Given the description of an element on the screen output the (x, y) to click on. 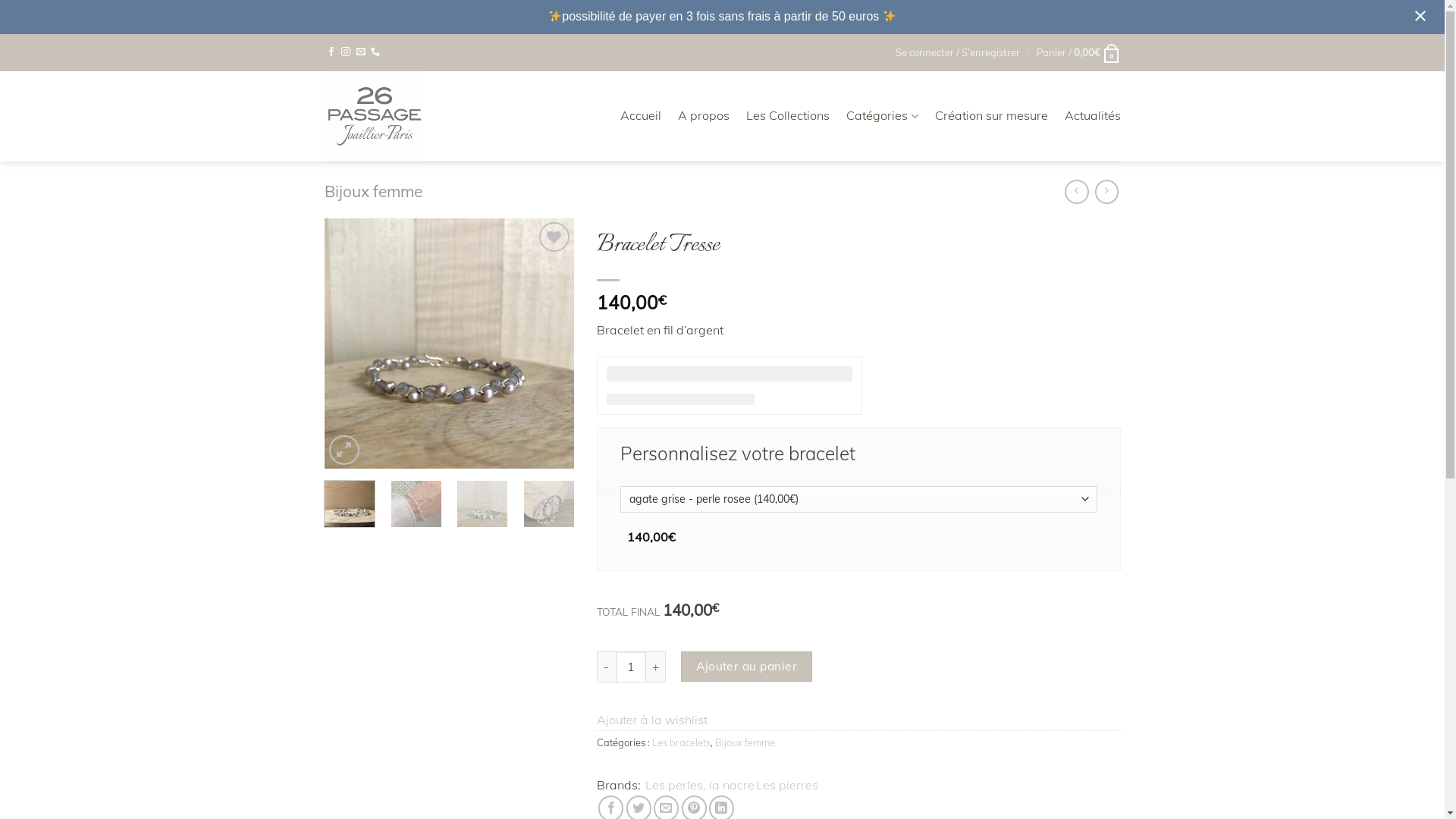
A propos Element type: text (703, 115)
Les perles, la nacre Element type: text (699, 785)
Ajouter au panier Element type: text (746, 666)
bracelet argent perles agate grise et rosees Element type: hover (449, 343)
Bijoux femme Element type: text (373, 190)
Bijoux femme Element type: text (745, 742)
Qty Element type: hover (630, 666)
Les bracelets Element type: text (681, 742)
Les pierres Element type: text (787, 785)
Les Collections Element type: text (787, 115)
Accueil Element type: text (640, 115)
